Given the description of an element on the screen output the (x, y) to click on. 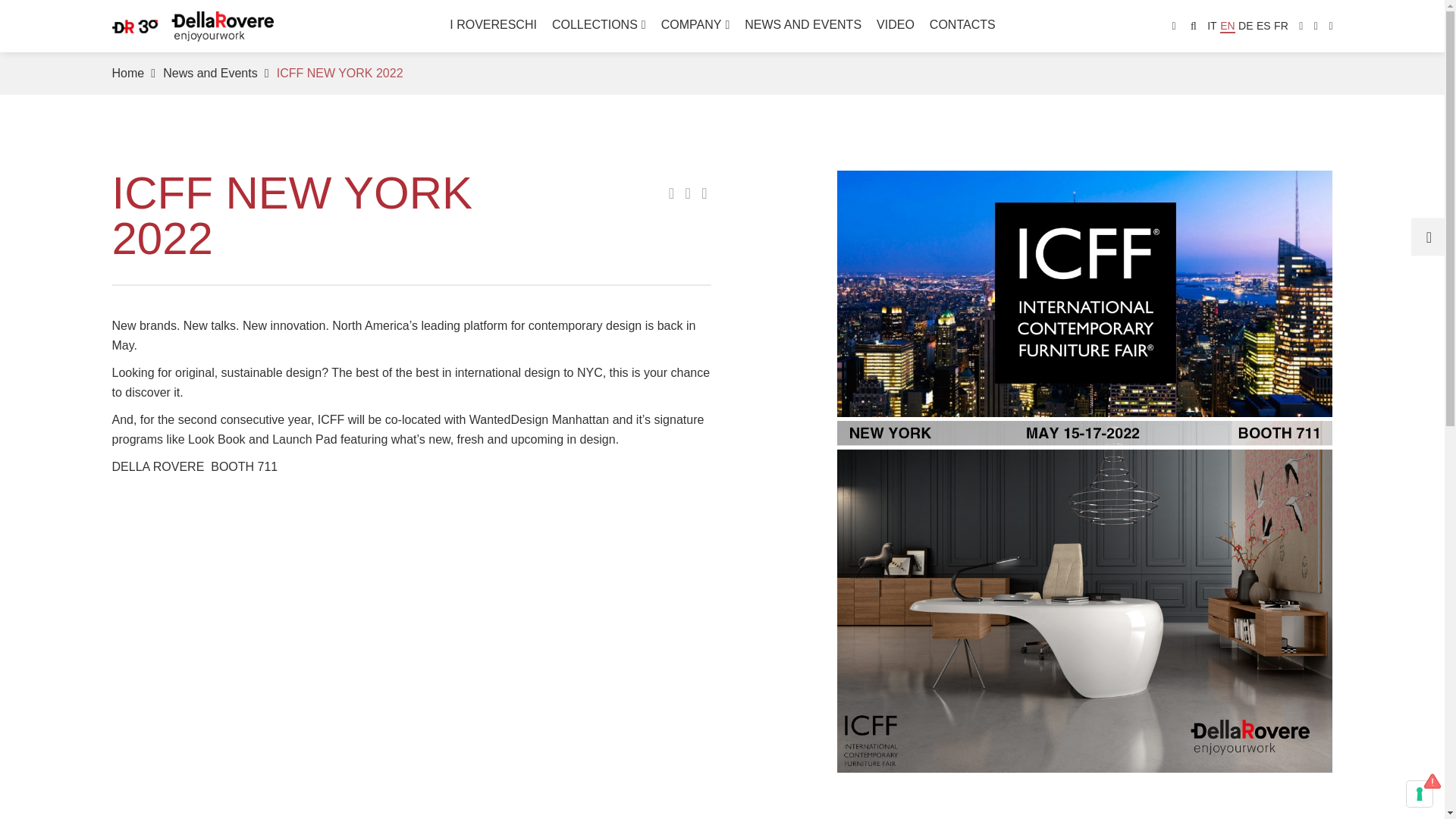
VIDEO (895, 24)
COLLECTIONS (598, 24)
CONTACTS (962, 24)
I Rovereschi (493, 24)
I ROVERESCHI (493, 24)
COMPANY (695, 24)
NEWS AND EVENTS (802, 24)
